Given the description of an element on the screen output the (x, y) to click on. 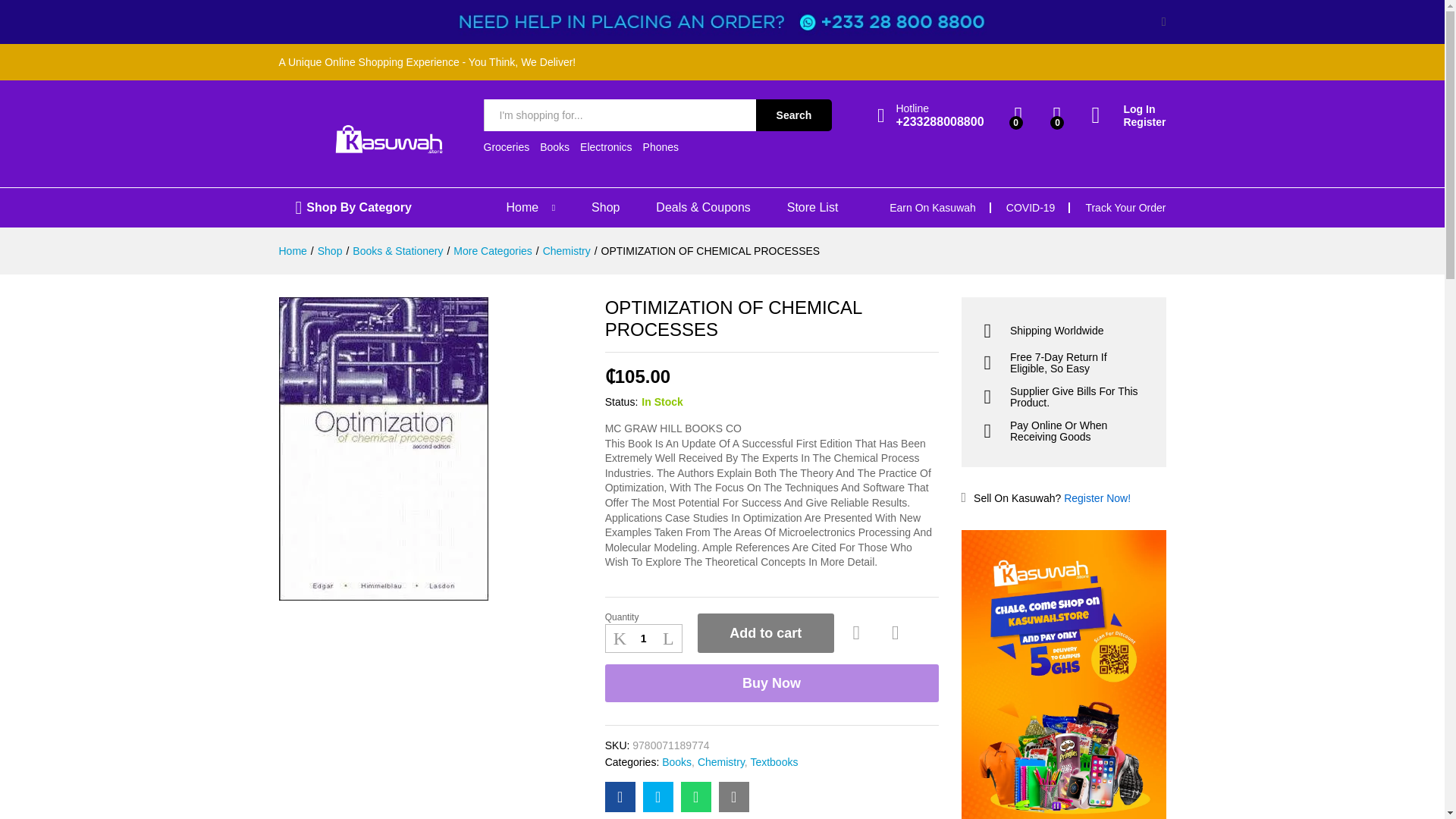
OPTIMIZATION OF CHEMICAL PROCESSES (619, 797)
OPTIMIZATION OF CHEMICAL PROCESSES (696, 797)
1 (643, 637)
Qty (643, 637)
OPTIMIZATION OF CHEMICAL PROCESSES (734, 797)
